Given the description of an element on the screen output the (x, y) to click on. 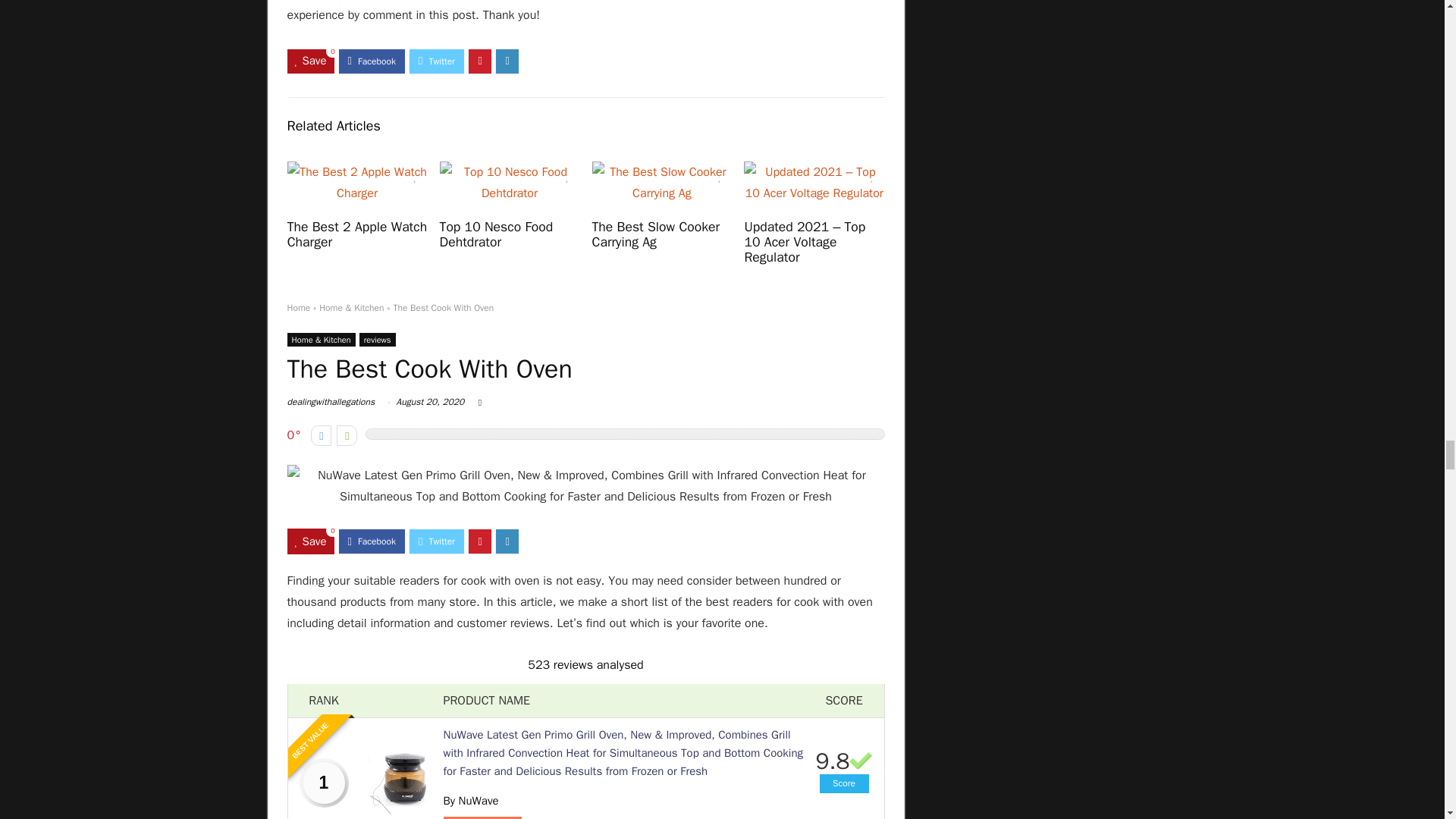
Vote down (321, 435)
Vote up (346, 435)
View all posts in reviews (377, 339)
